Given the description of an element on the screen output the (x, y) to click on. 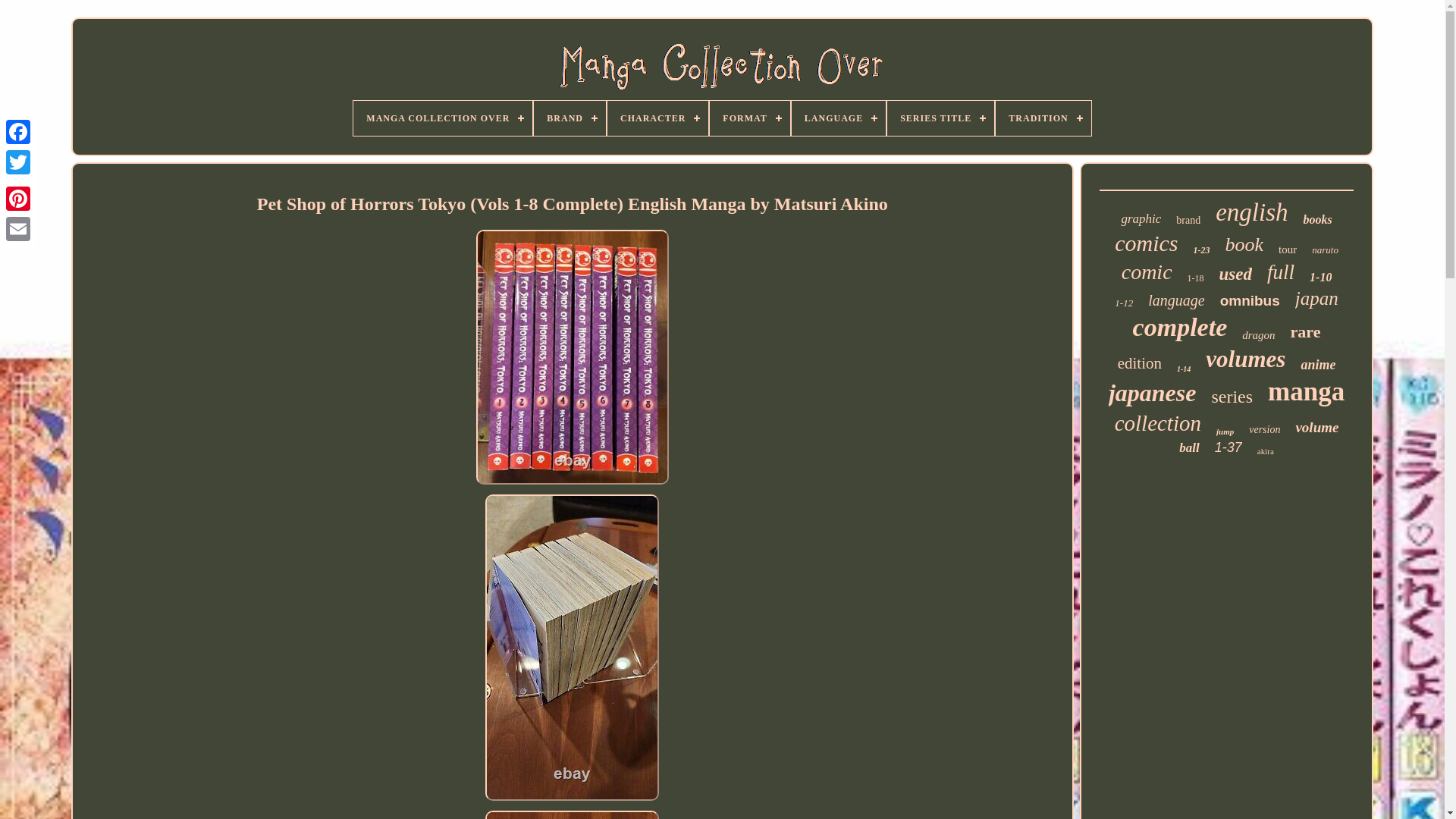
BRAND (569, 117)
MANGA COLLECTION OVER (442, 117)
CHARACTER (657, 117)
